Given the description of an element on the screen output the (x, y) to click on. 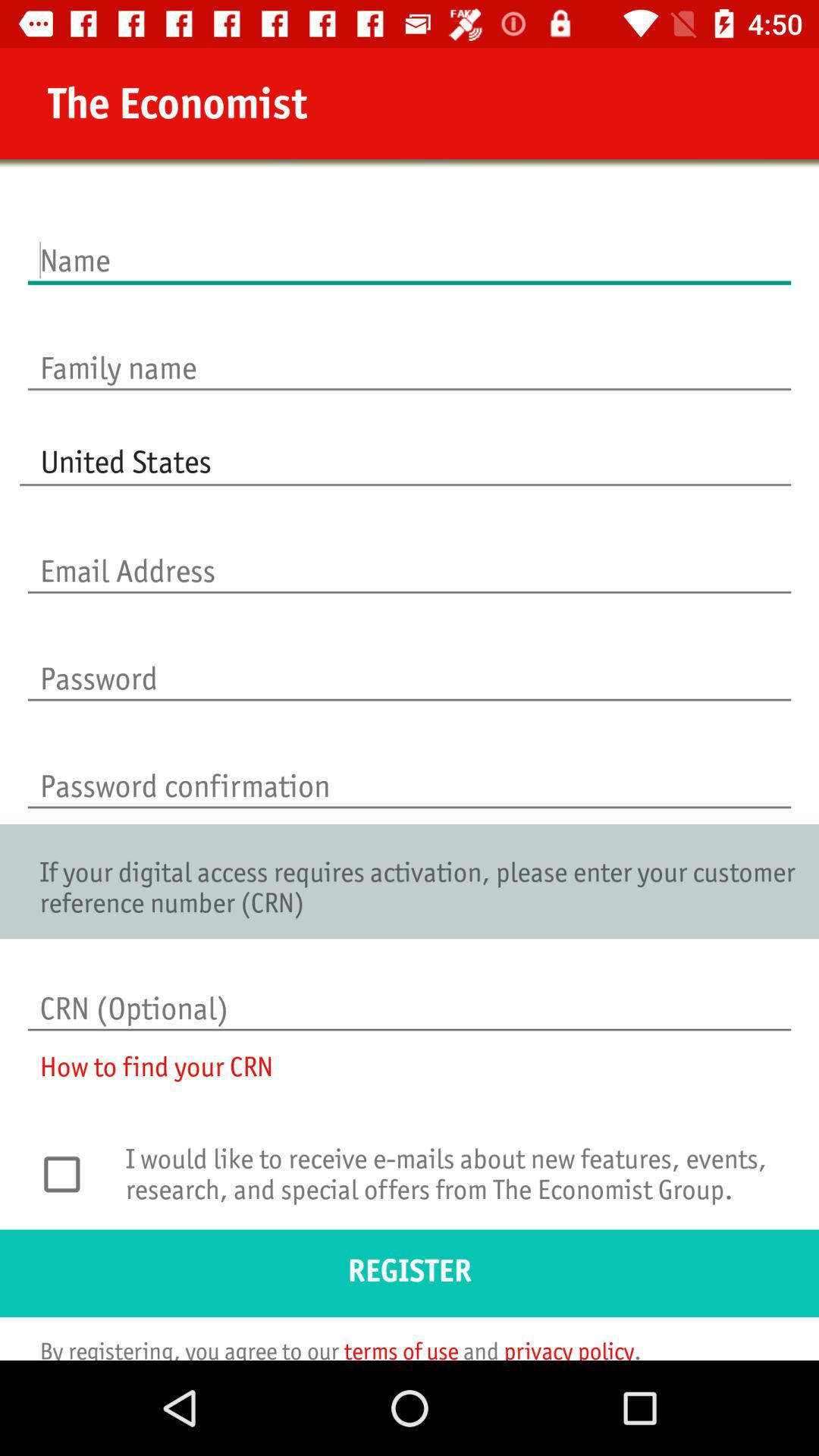
turn on icon above the register icon (69, 1174)
